Given the description of an element on the screen output the (x, y) to click on. 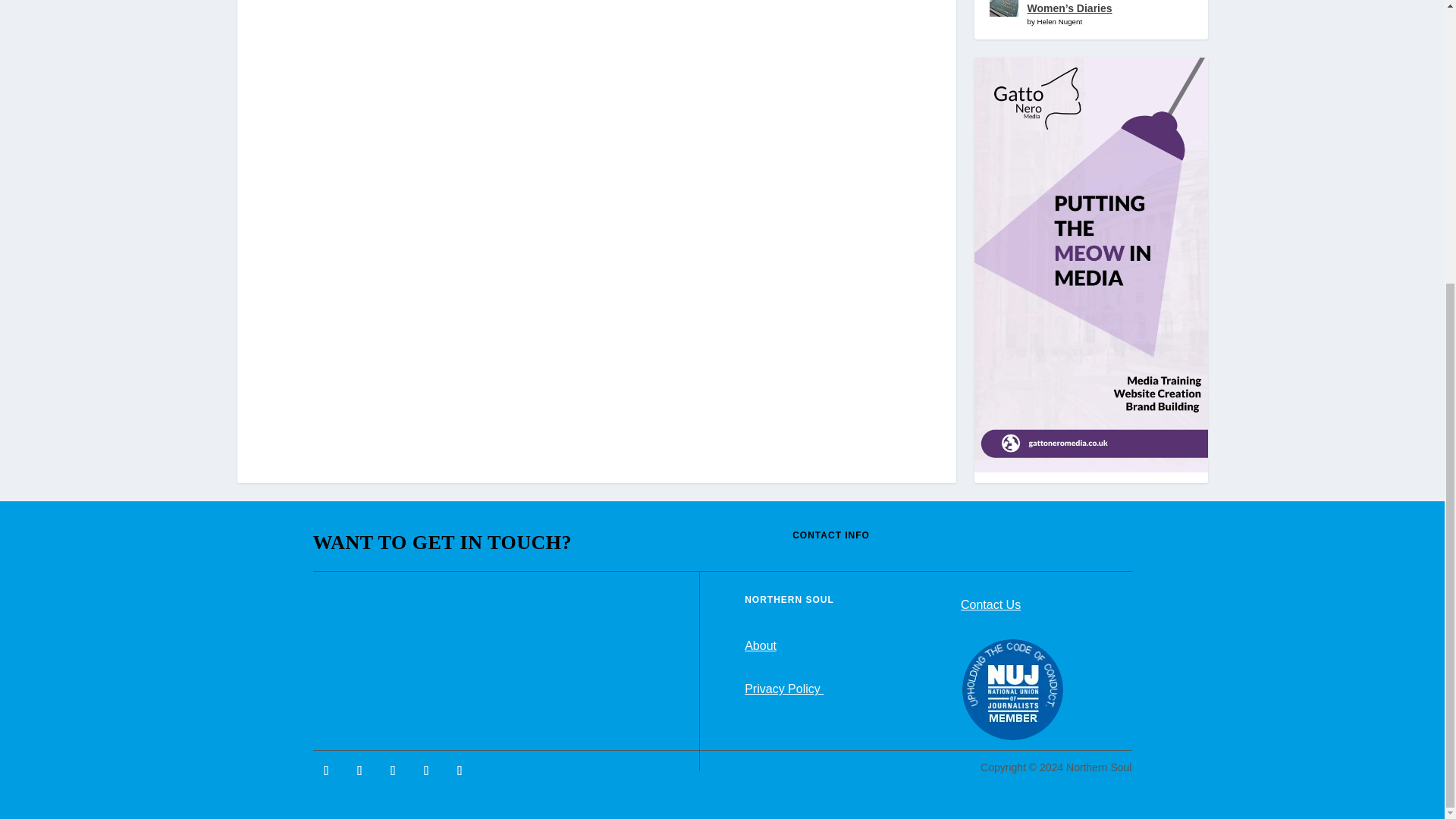
Follow on Youtube (392, 769)
Follow on X (359, 769)
Follow on Instagram (459, 769)
Follow on Facebook (326, 769)
Follow on TikTok (425, 769)
Electronic-NUJ-badge-blue (1012, 690)
